Given the description of an element on the screen output the (x, y) to click on. 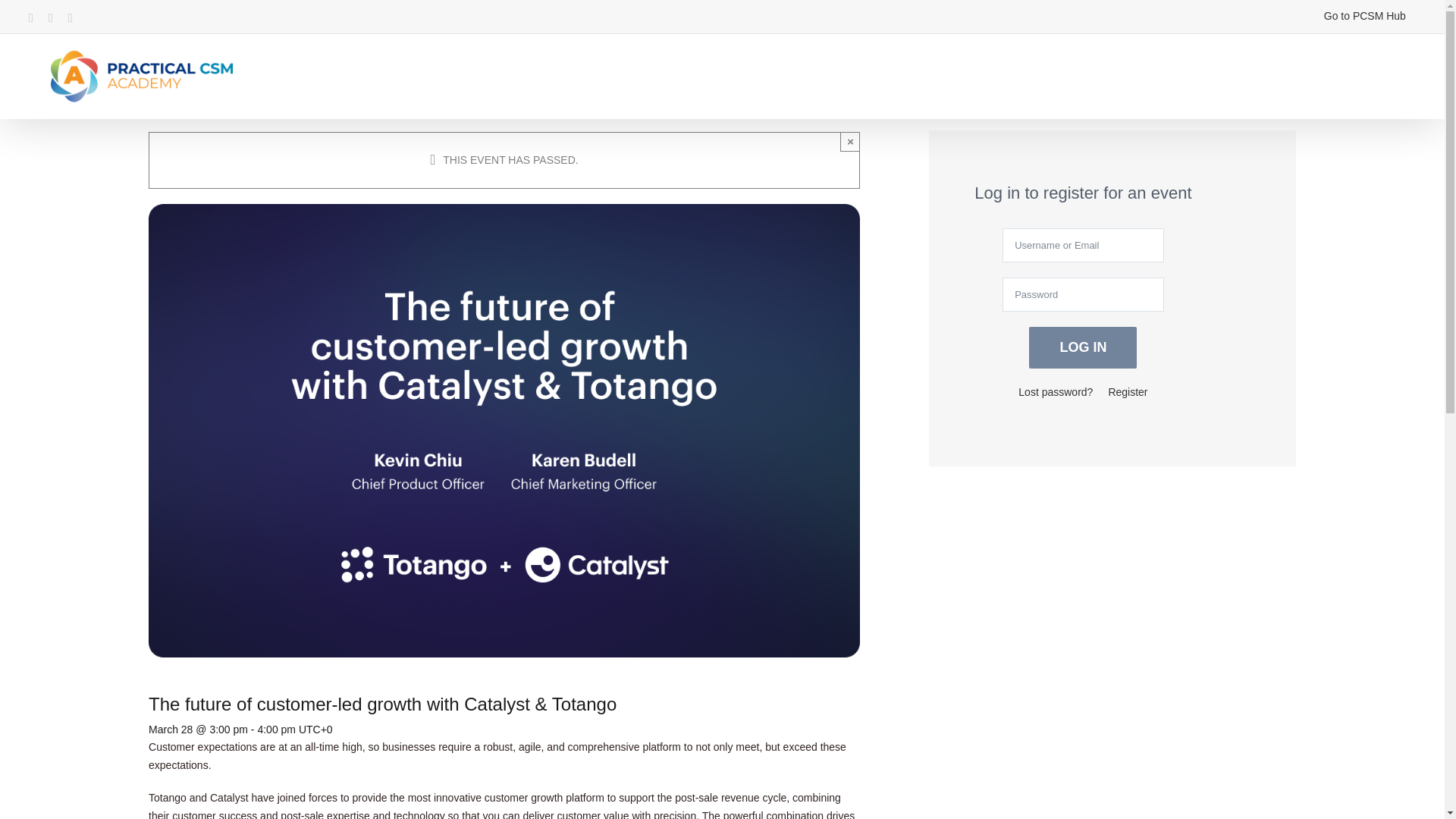
LOG IN (1083, 347)
Lost password? (1055, 391)
Go to PCSM Hub (1364, 16)
Register (1127, 391)
